Given the description of an element on the screen output the (x, y) to click on. 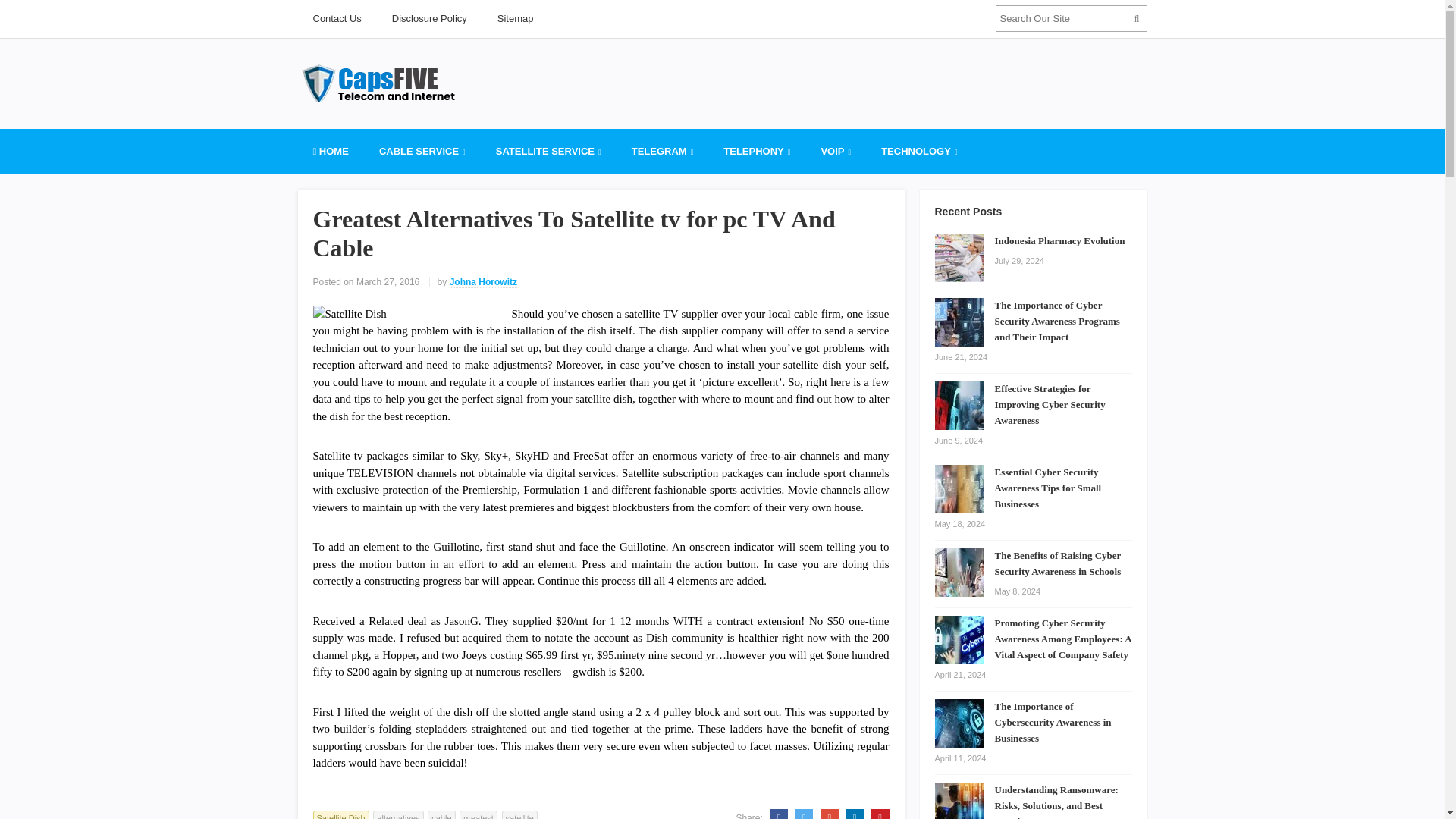
Sitemap (514, 18)
Disclosure Policy (429, 18)
Contact Us (336, 18)
